Given the description of an element on the screen output the (x, y) to click on. 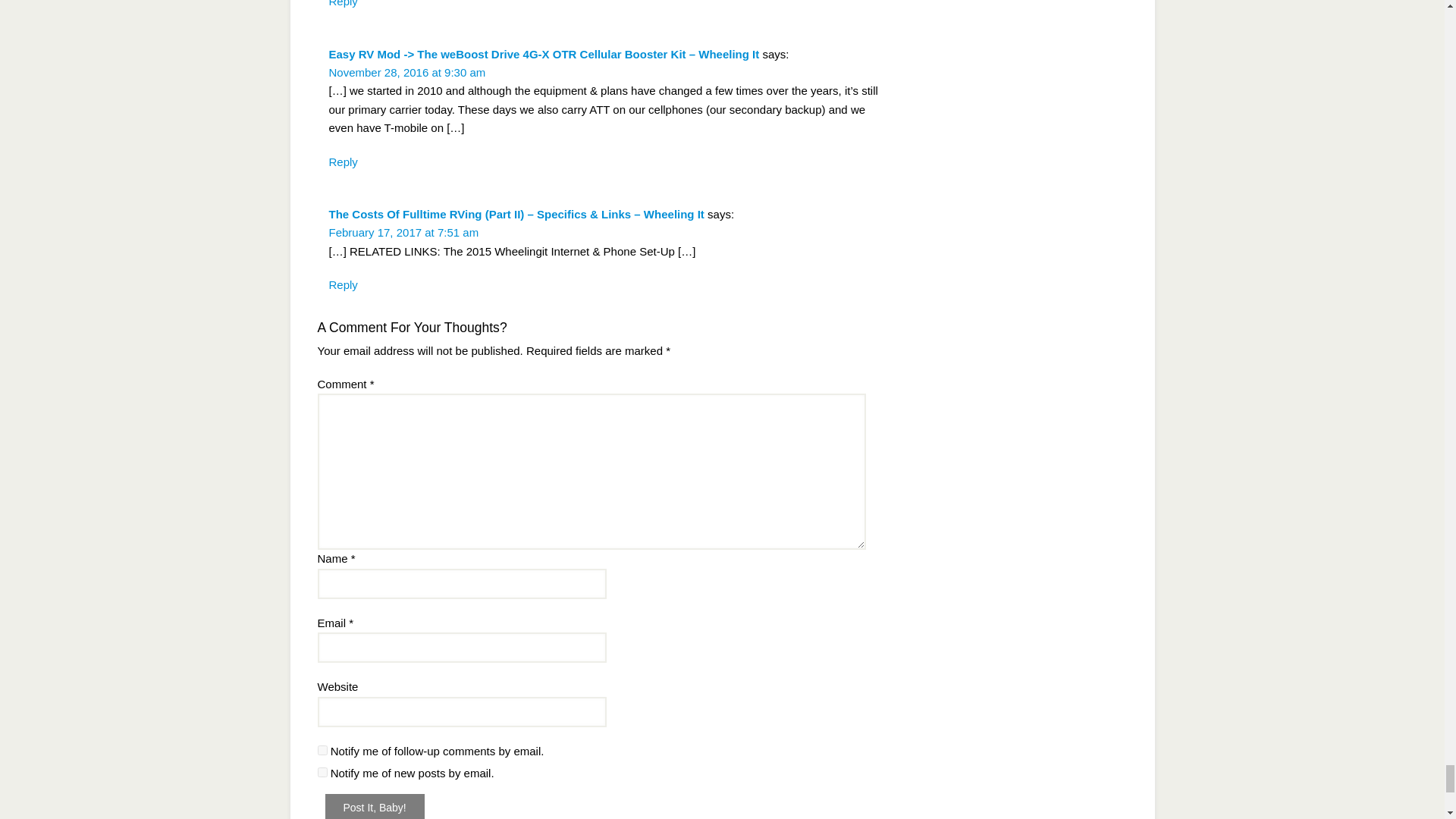
Post It, Baby! (373, 806)
subscribe (321, 750)
subscribe (321, 772)
